Given the description of an element on the screen output the (x, y) to click on. 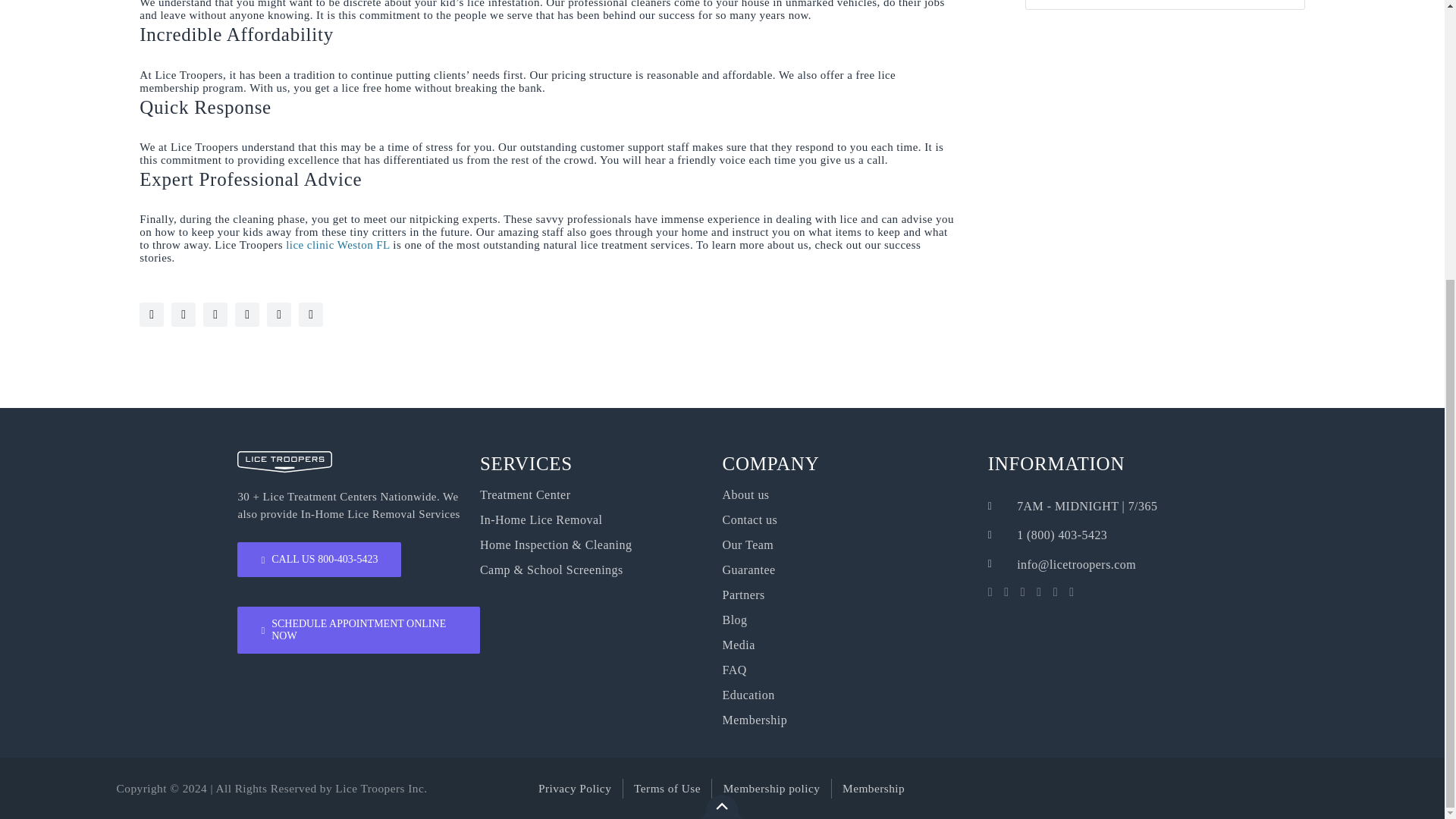
X (215, 314)
YouTube (151, 314)
Group 914 (284, 462)
LinkedIn (278, 314)
Facebook (246, 314)
Pinterest (310, 314)
Instagram (183, 314)
